Given the description of an element on the screen output the (x, y) to click on. 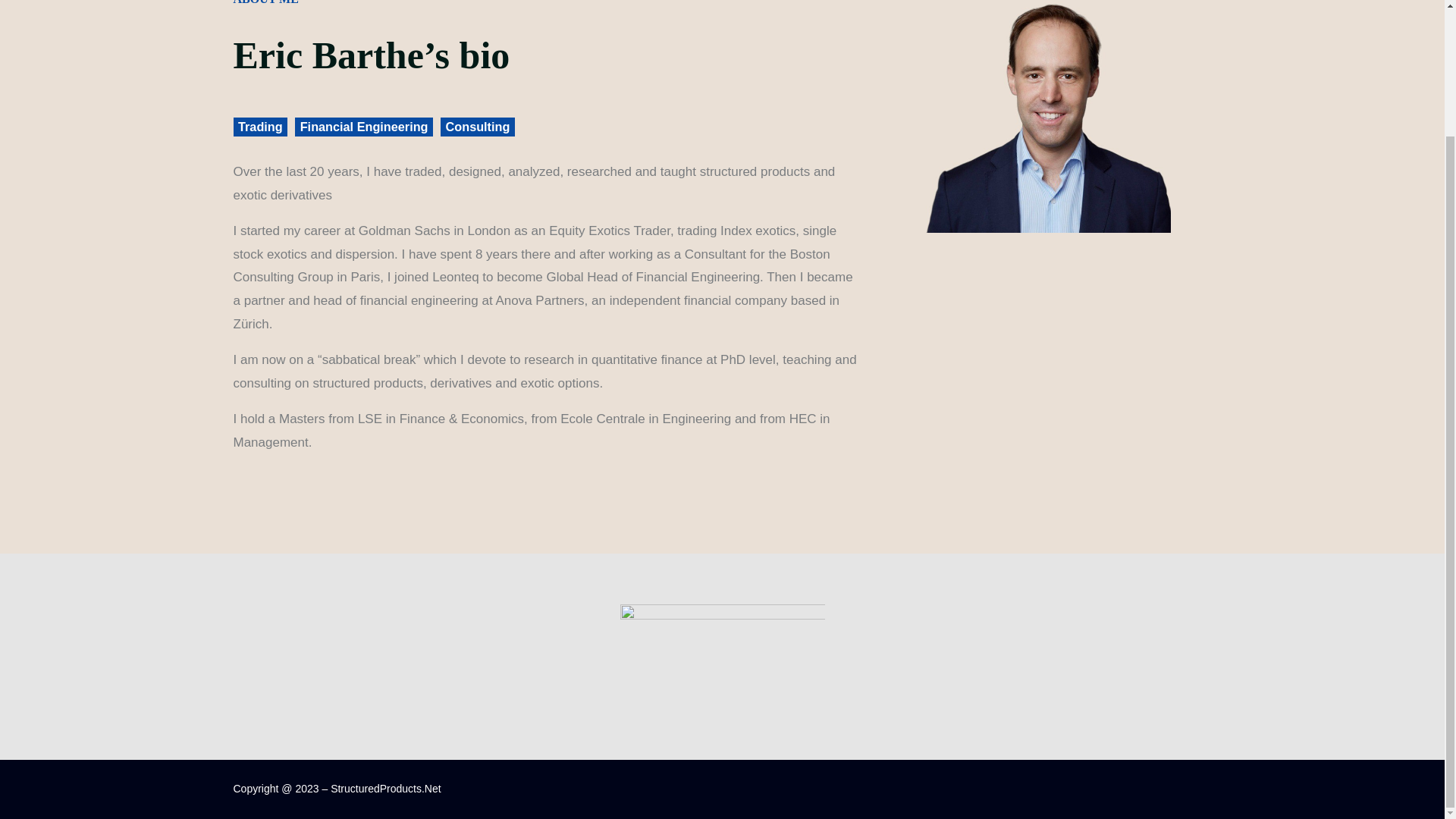
HQSizeBlue-1 (722, 622)
StructuredProducts.Net (385, 788)
portrait (1048, 116)
